Given the description of an element on the screen output the (x, y) to click on. 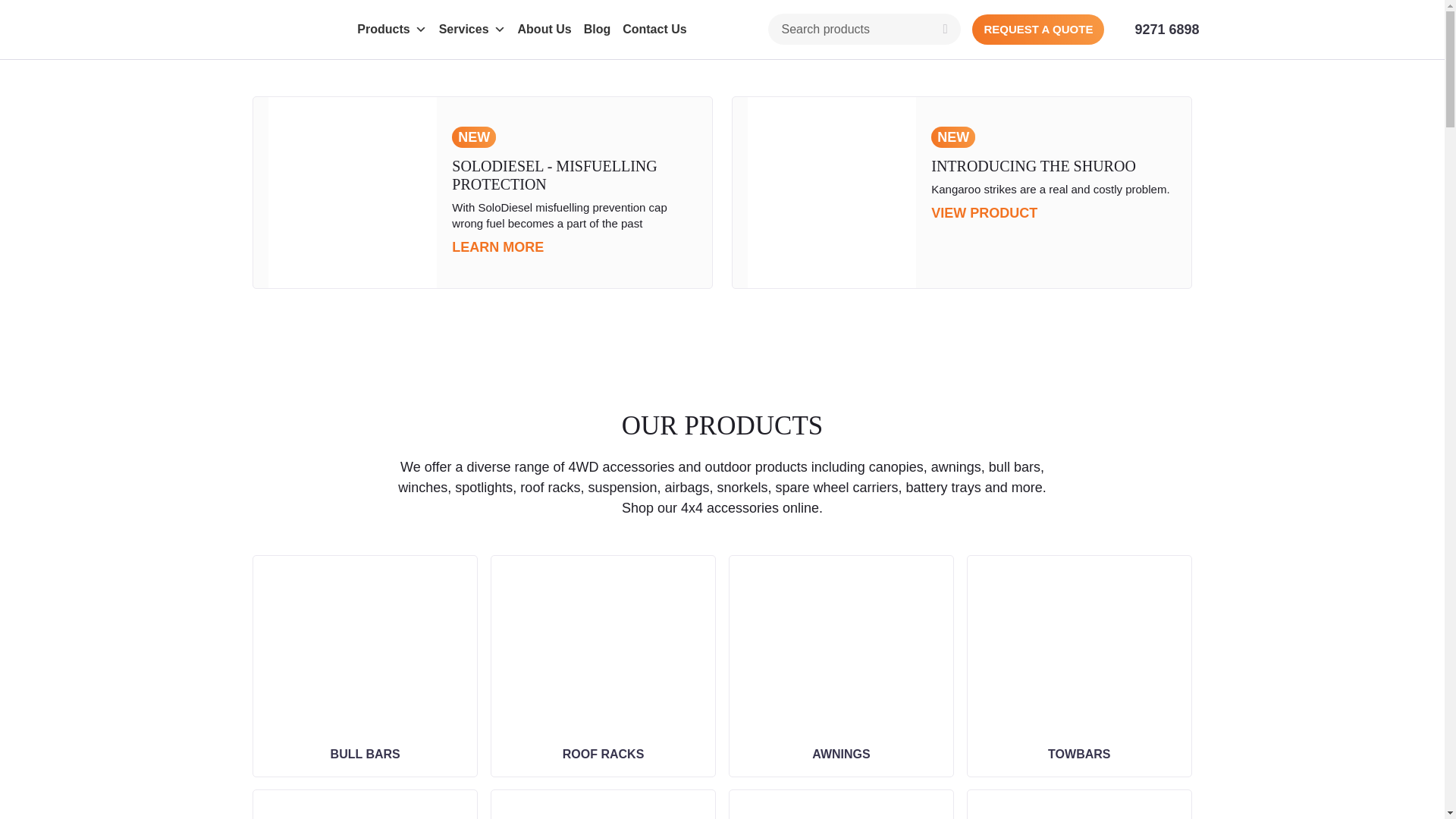
9271 6898 (1166, 29)
Products (391, 29)
REQUEST A QUOTE (1037, 29)
